Given the description of an element on the screen output the (x, y) to click on. 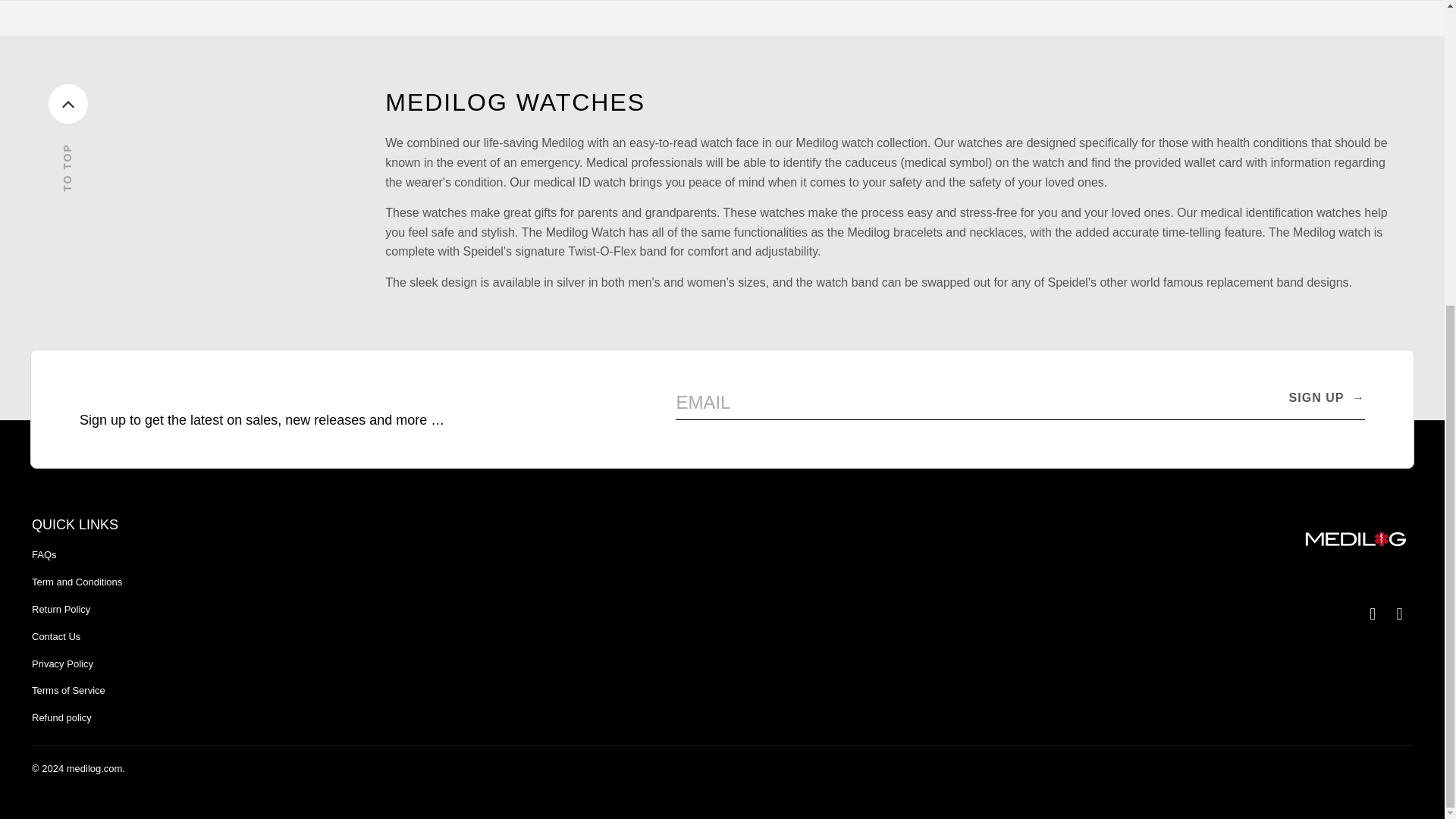
Email medilog.com (1399, 614)
Privacy Policy (62, 663)
TO TOP (216, 111)
Refund policy (61, 717)
Contact Us (56, 636)
FAQs (44, 554)
Return Policy (61, 609)
medilog.com (94, 767)
Terms of Service (68, 690)
Term and Conditions (77, 582)
medilog.com on Instagram (1372, 614)
